Given the description of an element on the screen output the (x, y) to click on. 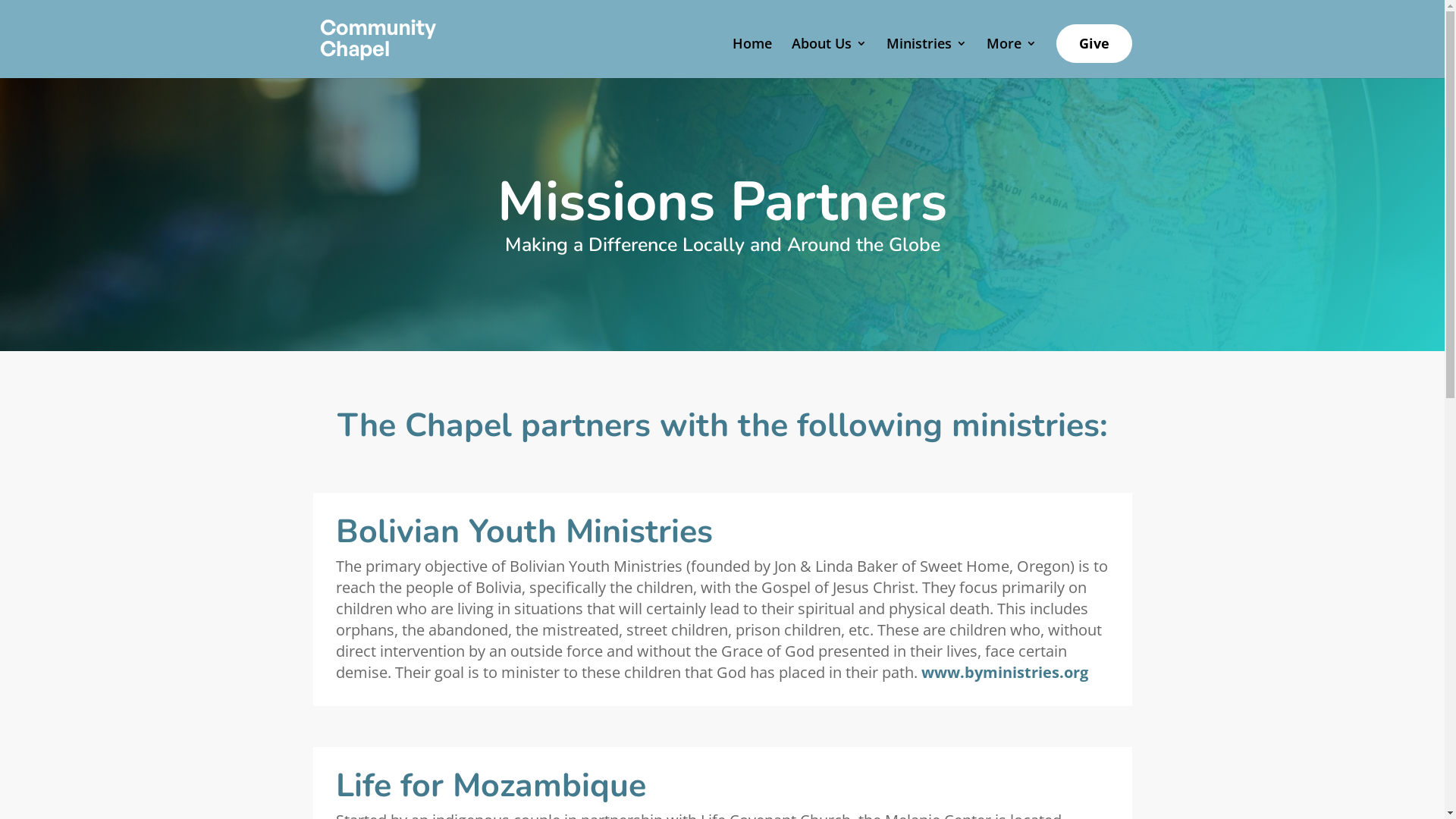
About Us Element type: text (828, 55)
More Element type: text (1010, 55)
Ministries Element type: text (925, 55)
www.byministries.org Element type: text (1003, 672)
Give Element type: text (1093, 43)
Home Element type: text (751, 55)
